Given the description of an element on the screen output the (x, y) to click on. 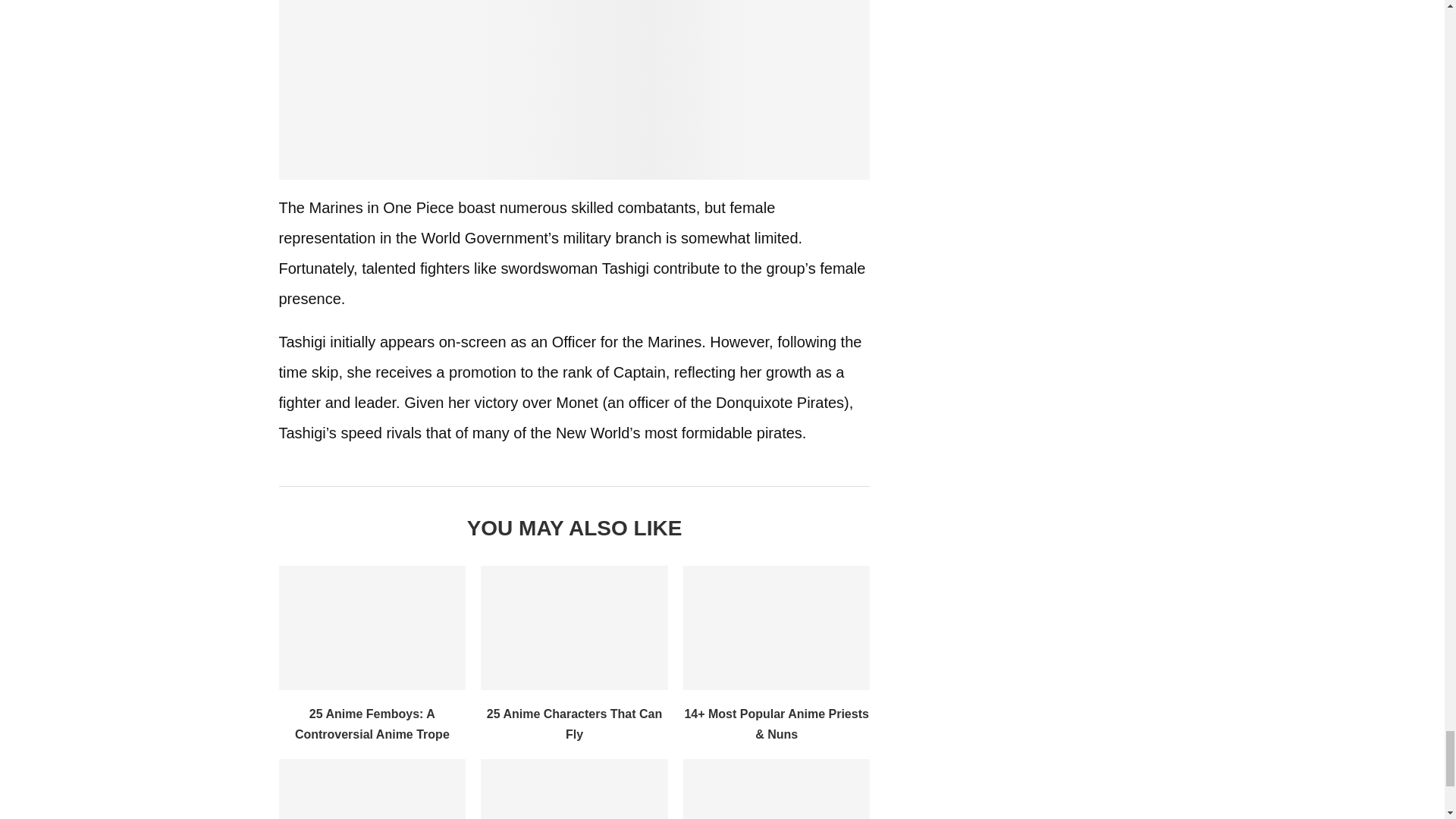
25 Anime Femboys: A Controversial Anime Trope (372, 627)
25 Anime Characters That Can Fly (574, 724)
25 Anime Femboys: A Controversial Anime Trope (372, 724)
25 Anime Characters That Can Fly (574, 627)
Soak Up the Sun with These Summer Vibe Anime (574, 789)
